Given the description of an element on the screen output the (x, y) to click on. 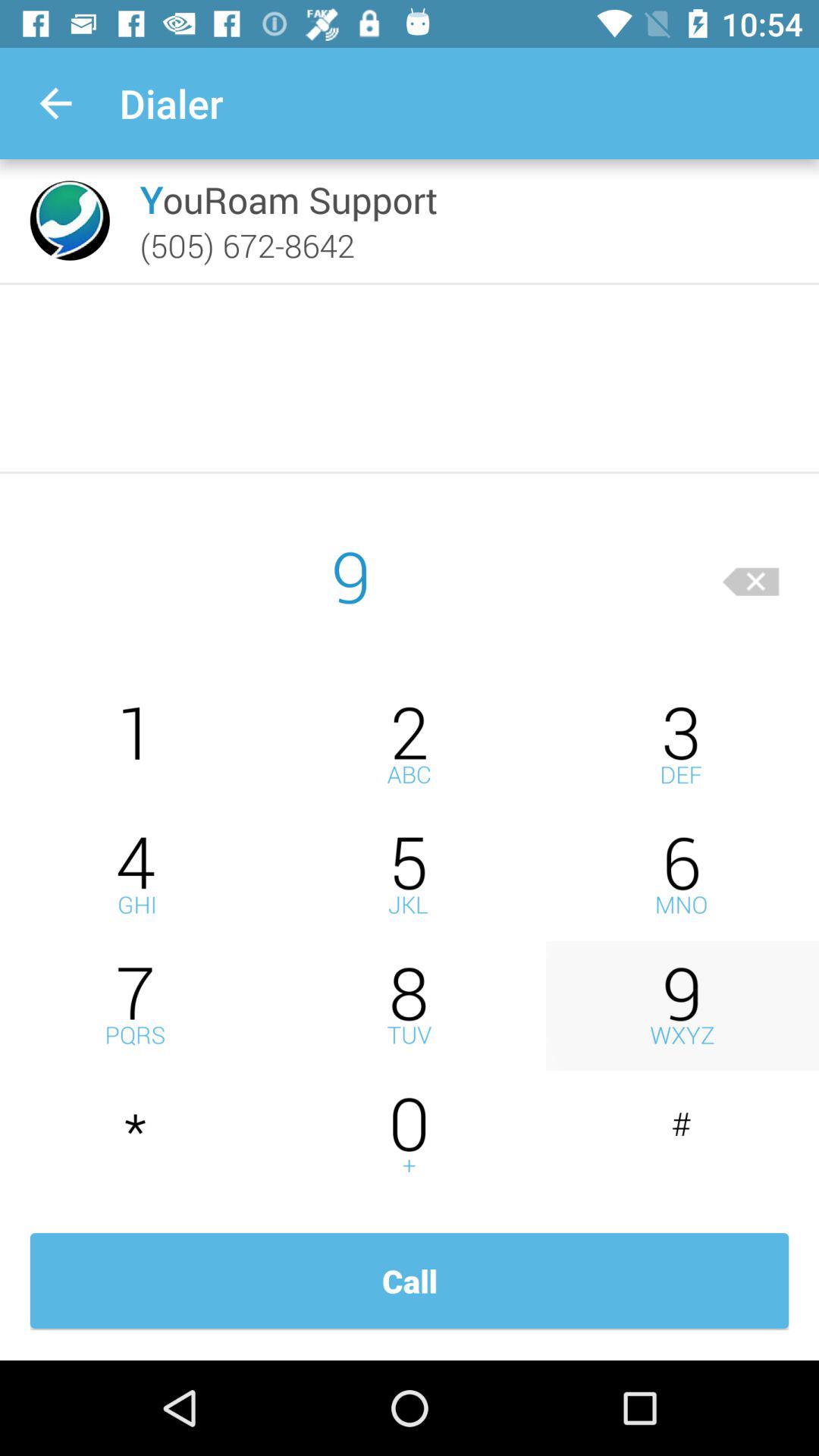
press five (409, 875)
